Given the description of an element on the screen output the (x, y) to click on. 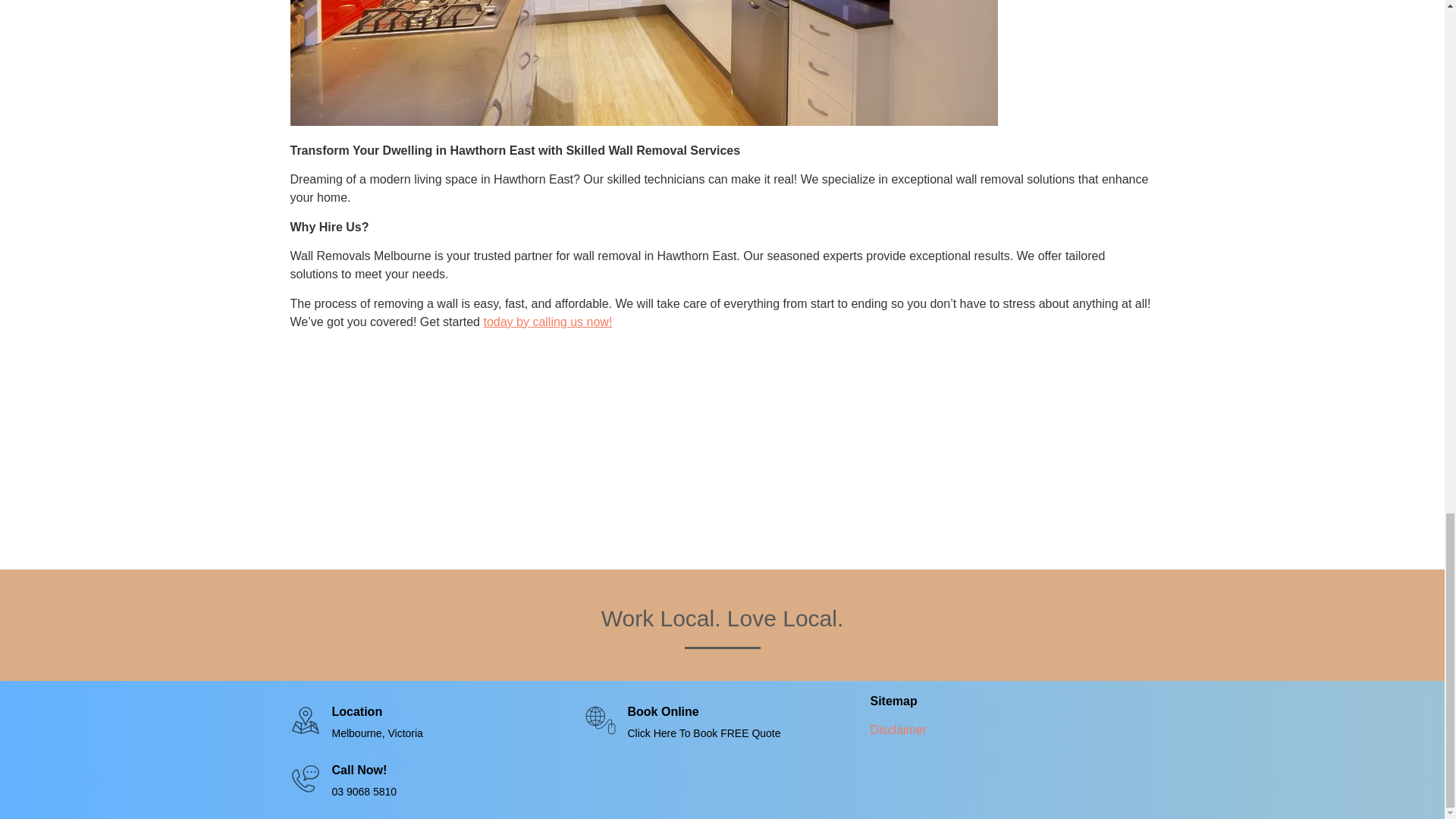
Call Now! (359, 769)
Disclaimer (897, 729)
today by calling us now! (547, 321)
Book Online (662, 711)
